Given the description of an element on the screen output the (x, y) to click on. 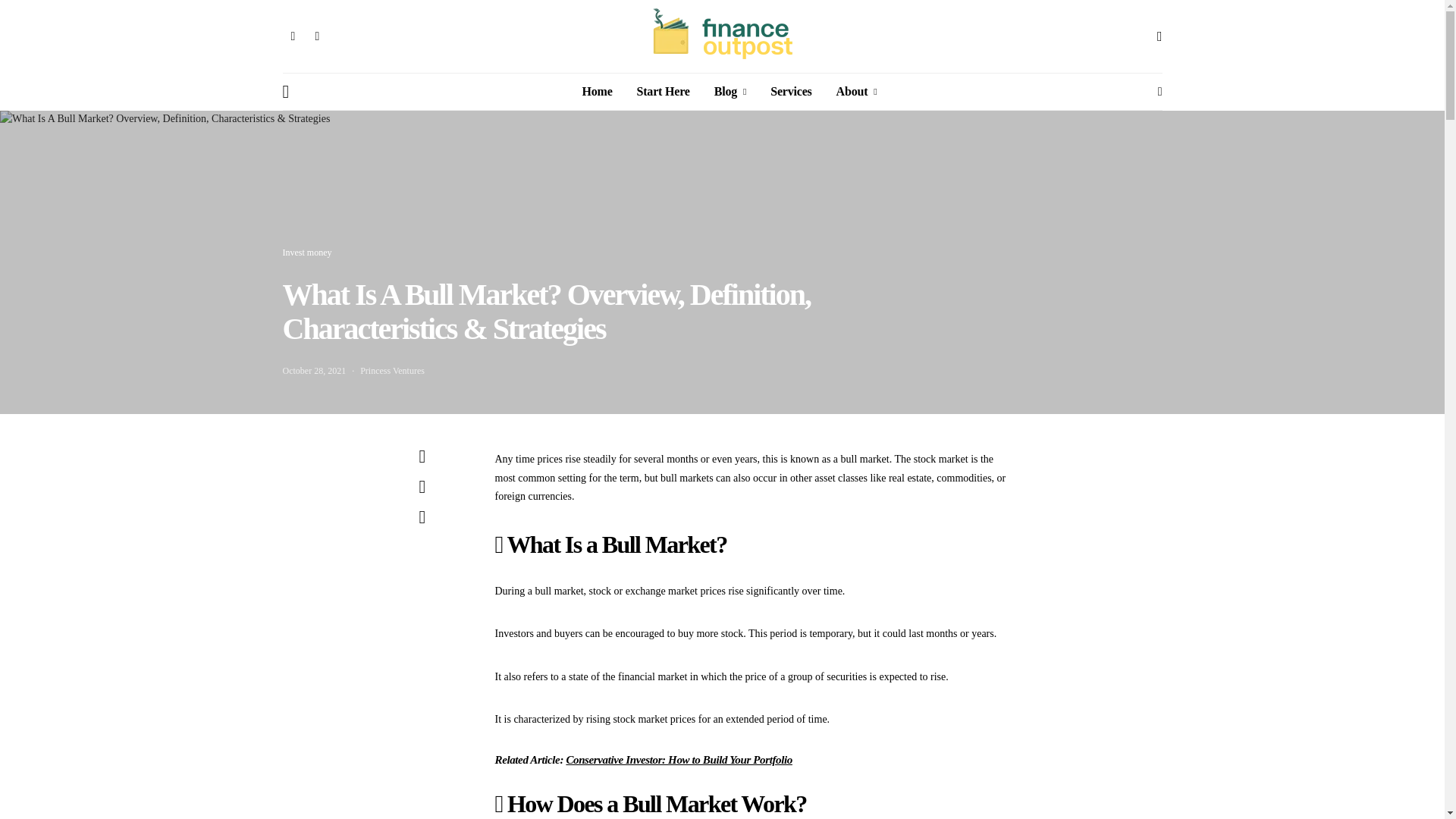
View all posts by Princess Ventures (392, 370)
